Given the description of an element on the screen output the (x, y) to click on. 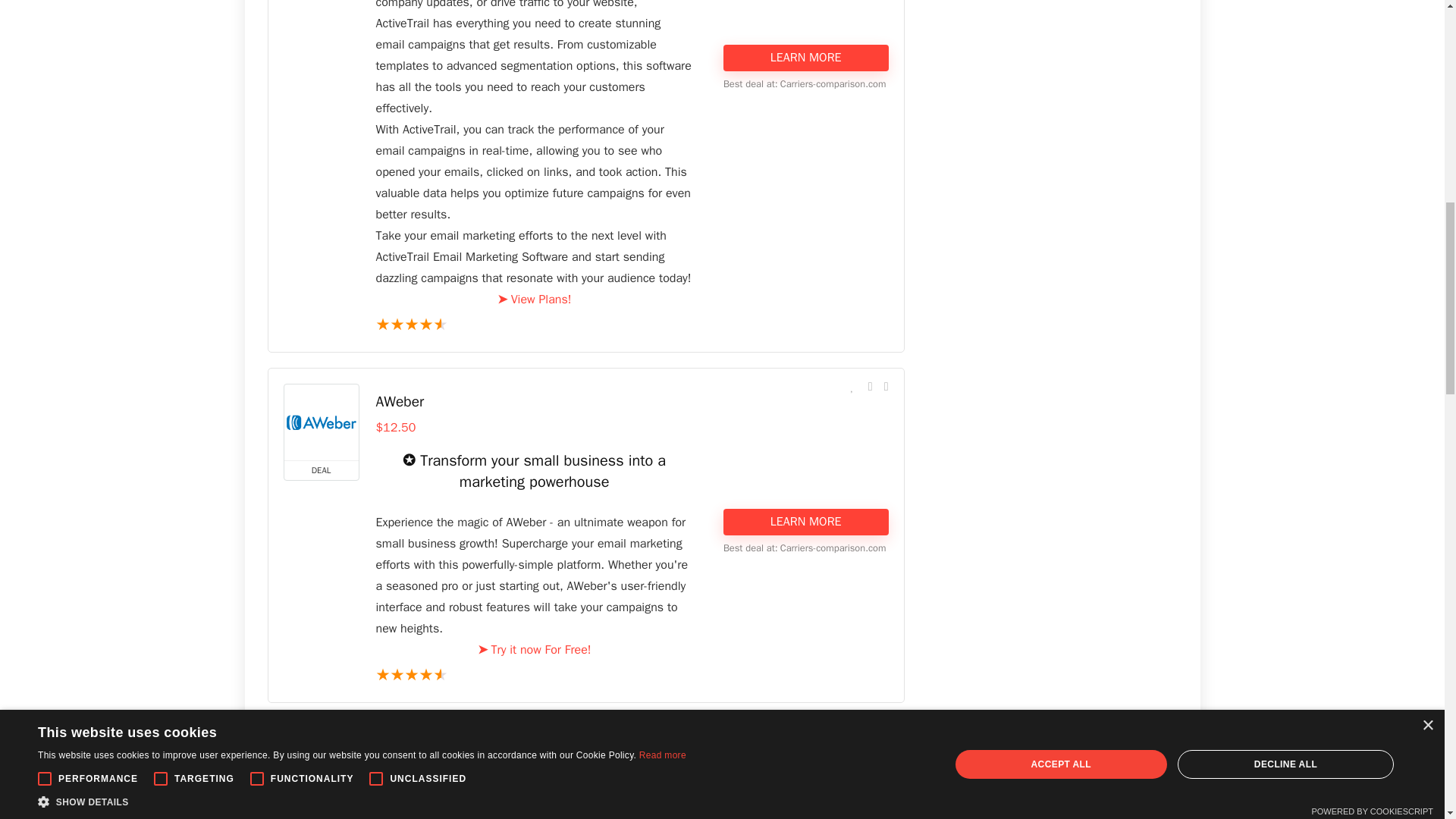
Rated 9.4 out of 10 (534, 324)
LEARN MORE (805, 57)
Rated 9.5 out of 10 (534, 675)
